Given the description of an element on the screen output the (x, y) to click on. 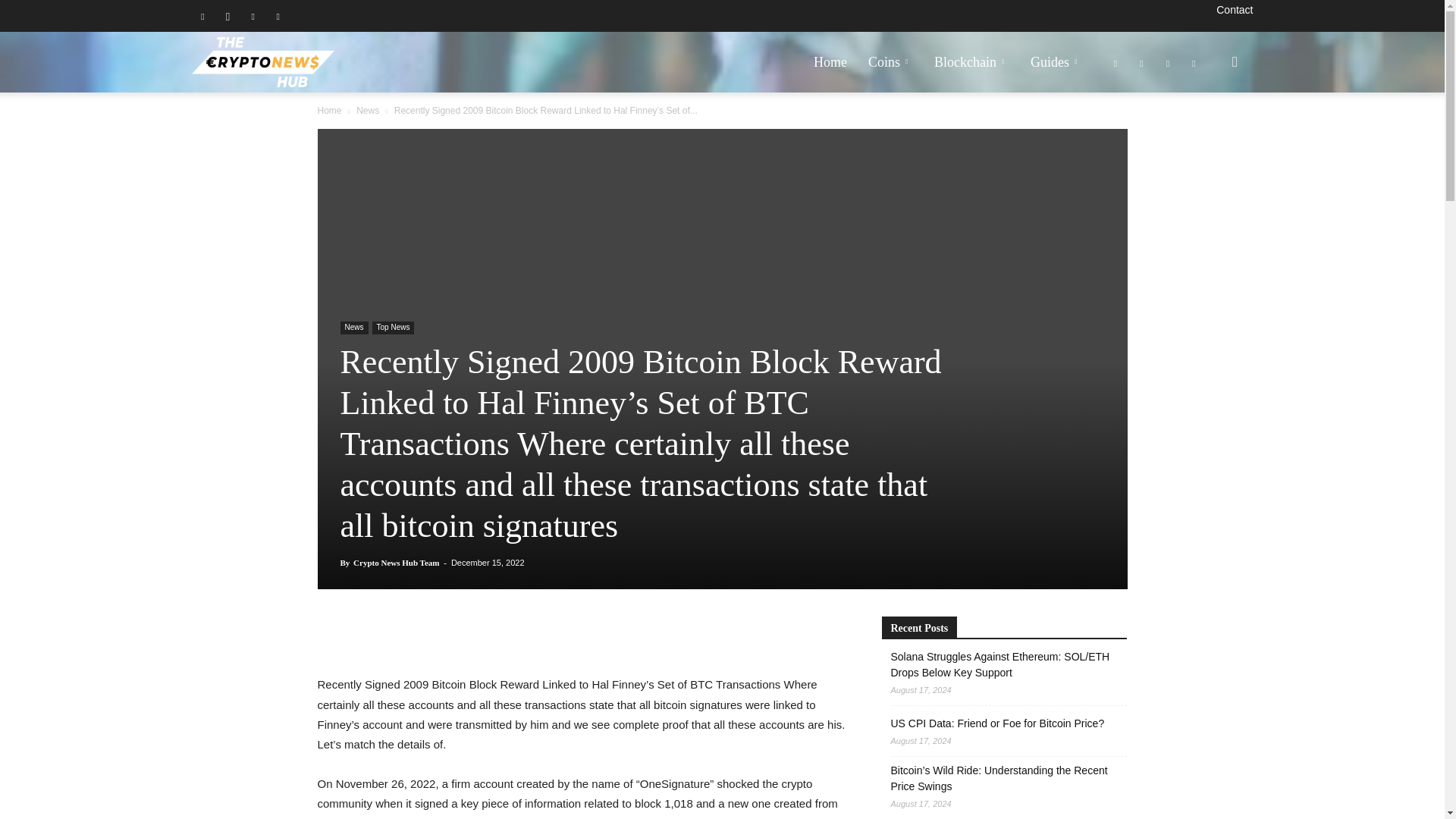
Coins (890, 61)
thecryptonewshub (261, 62)
Contact (1233, 9)
Search (1210, 134)
Home (830, 61)
